Given the description of an element on the screen output the (x, y) to click on. 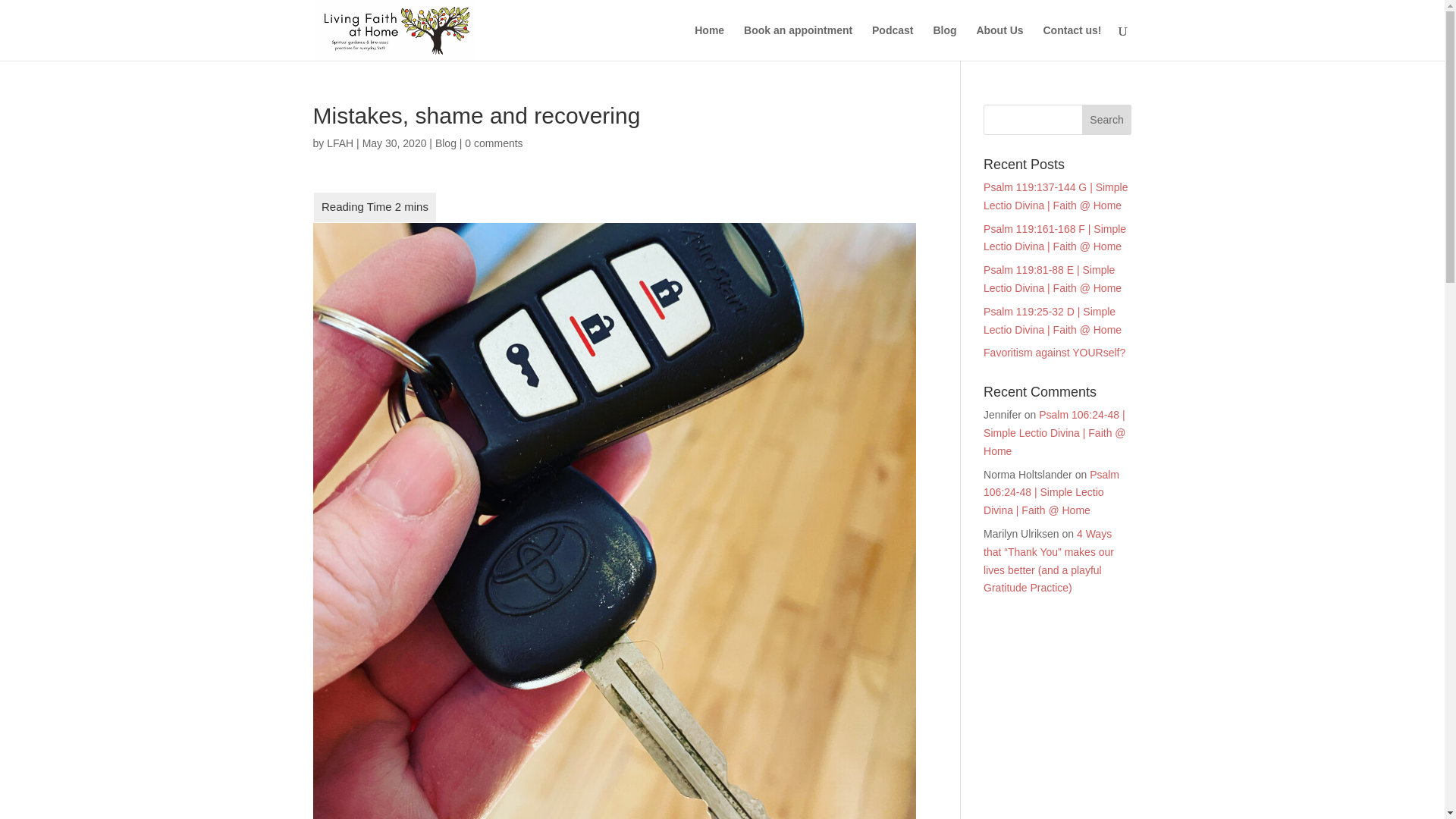
About Us (999, 42)
Search (1106, 119)
Favoritism against YOURself? (1054, 352)
Book an appointment (797, 42)
Search (1106, 119)
LFAH (339, 143)
Podcast (892, 42)
Contact us! (1072, 42)
Posts by LFAH (339, 143)
0 comments (493, 143)
Blog (446, 143)
